Given the description of an element on the screen output the (x, y) to click on. 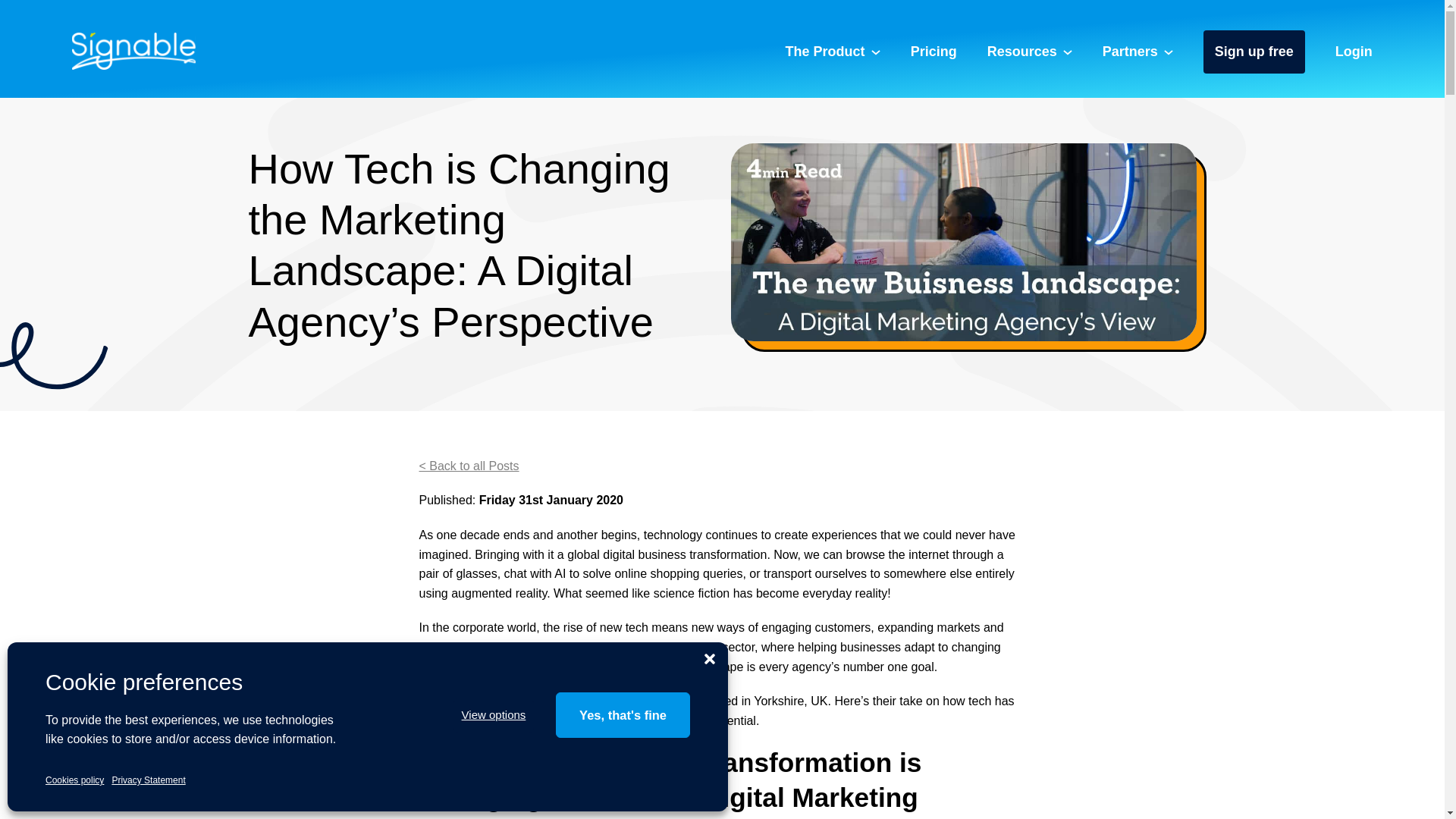
The Product (833, 55)
Privacy Statement (148, 779)
View options (493, 715)
Bigfoot Digital (456, 700)
Signable logo (133, 50)
Cookies policy (74, 779)
Yes, that's fine (623, 714)
Partners (1137, 55)
Resources (1029, 55)
Login (1354, 55)
